Given the description of an element on the screen output the (x, y) to click on. 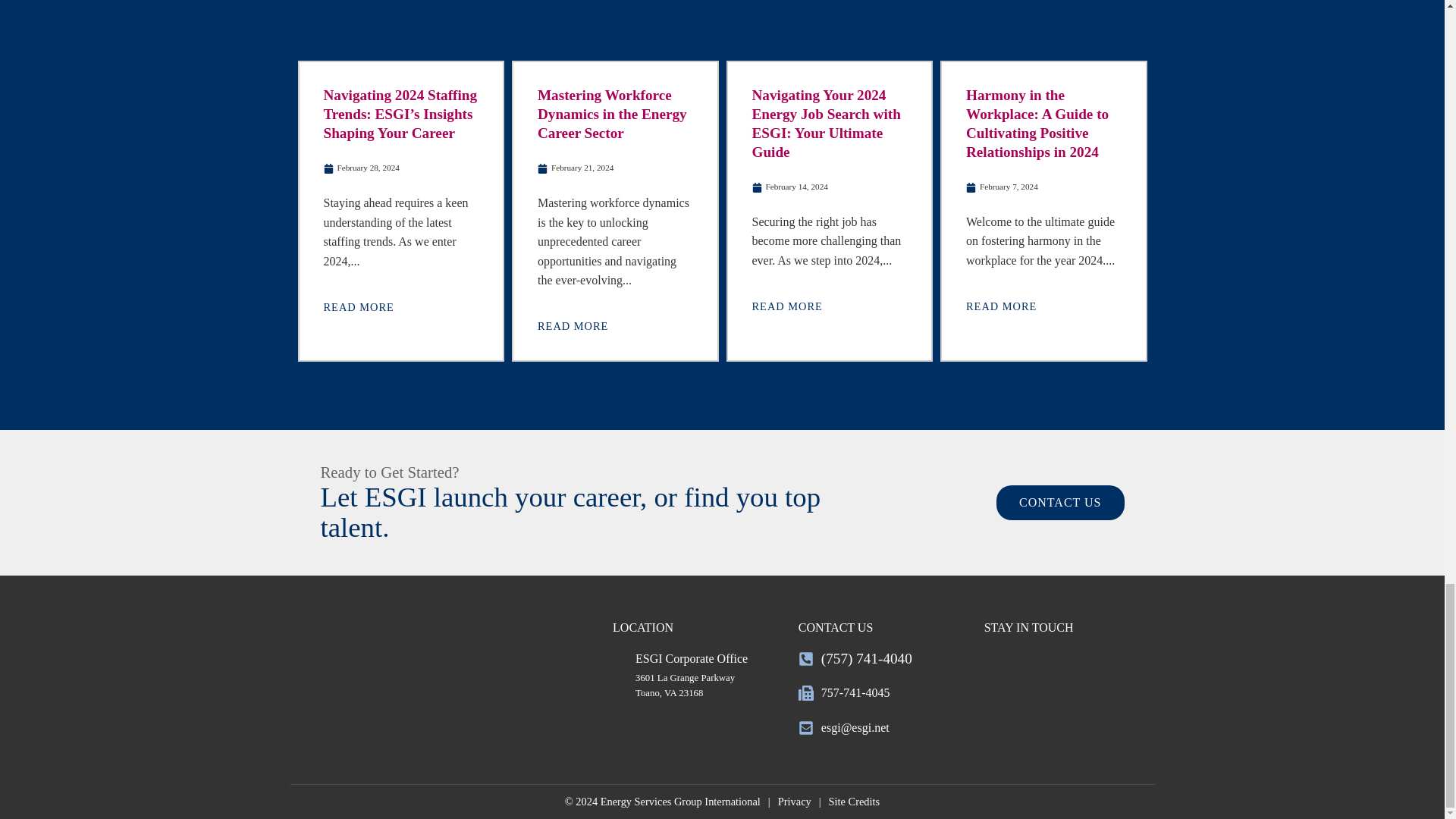
READ MORE (360, 307)
February 28, 2024 (360, 168)
Mastering Workforce Dynamics in the Energy Career Sector (612, 113)
